Given the description of an element on the screen output the (x, y) to click on. 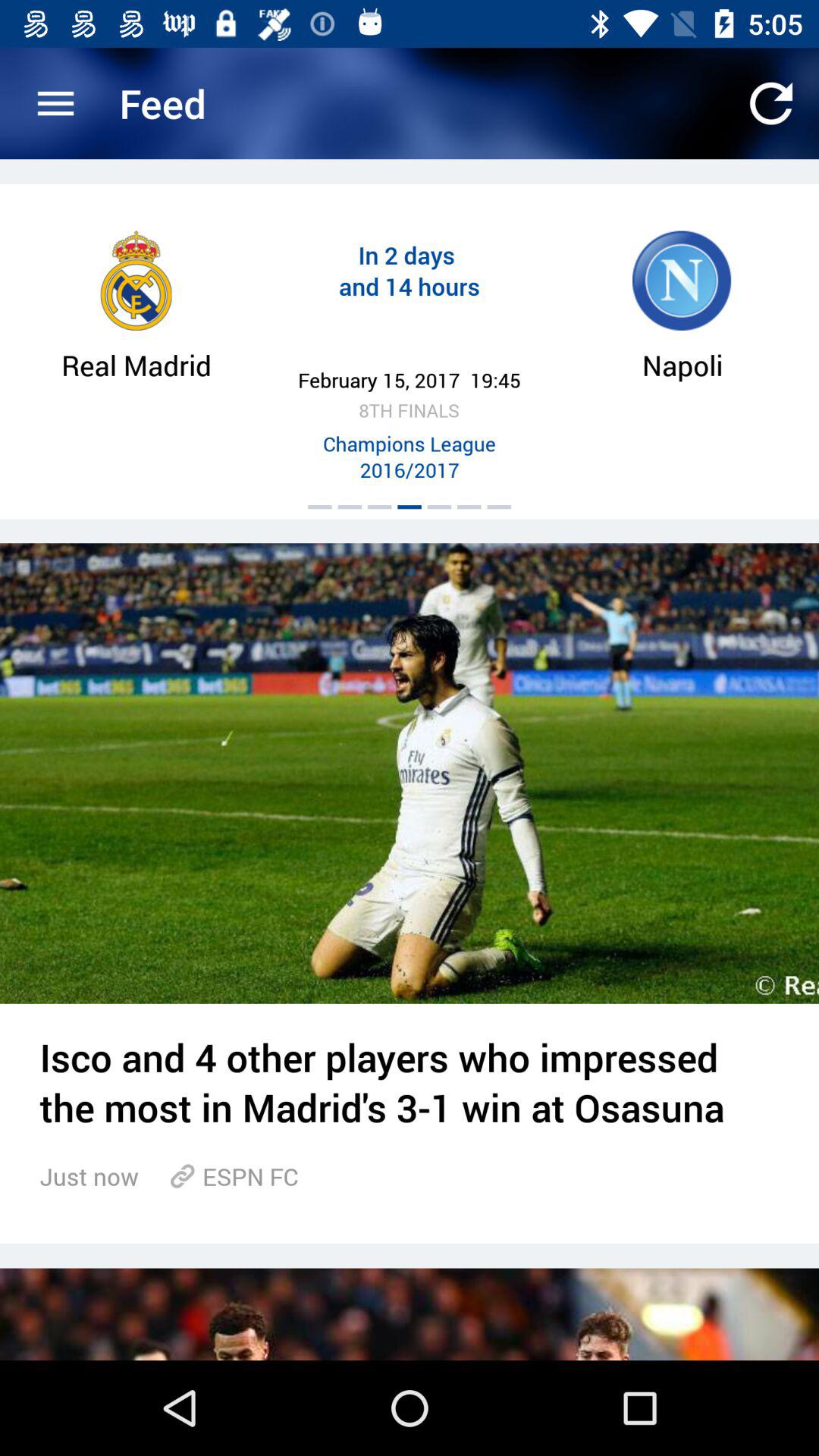
click item to the left of feed icon (55, 103)
